Given the description of an element on the screen output the (x, y) to click on. 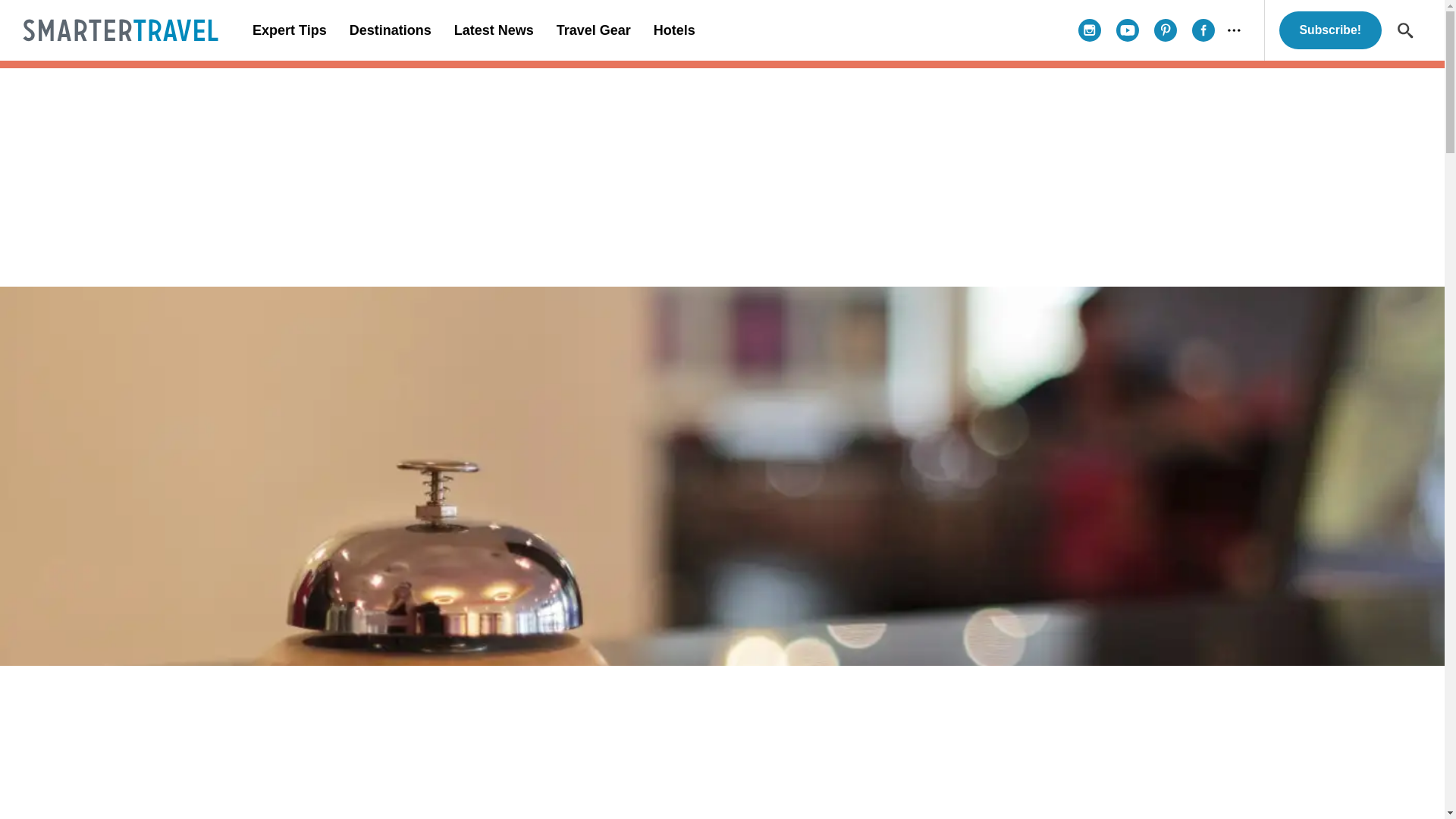
Subscribe! (1330, 30)
Destinations (389, 30)
Latest News (493, 30)
Hotels (674, 30)
Travel Gear (593, 30)
Expert Tips (289, 30)
